Given the description of an element on the screen output the (x, y) to click on. 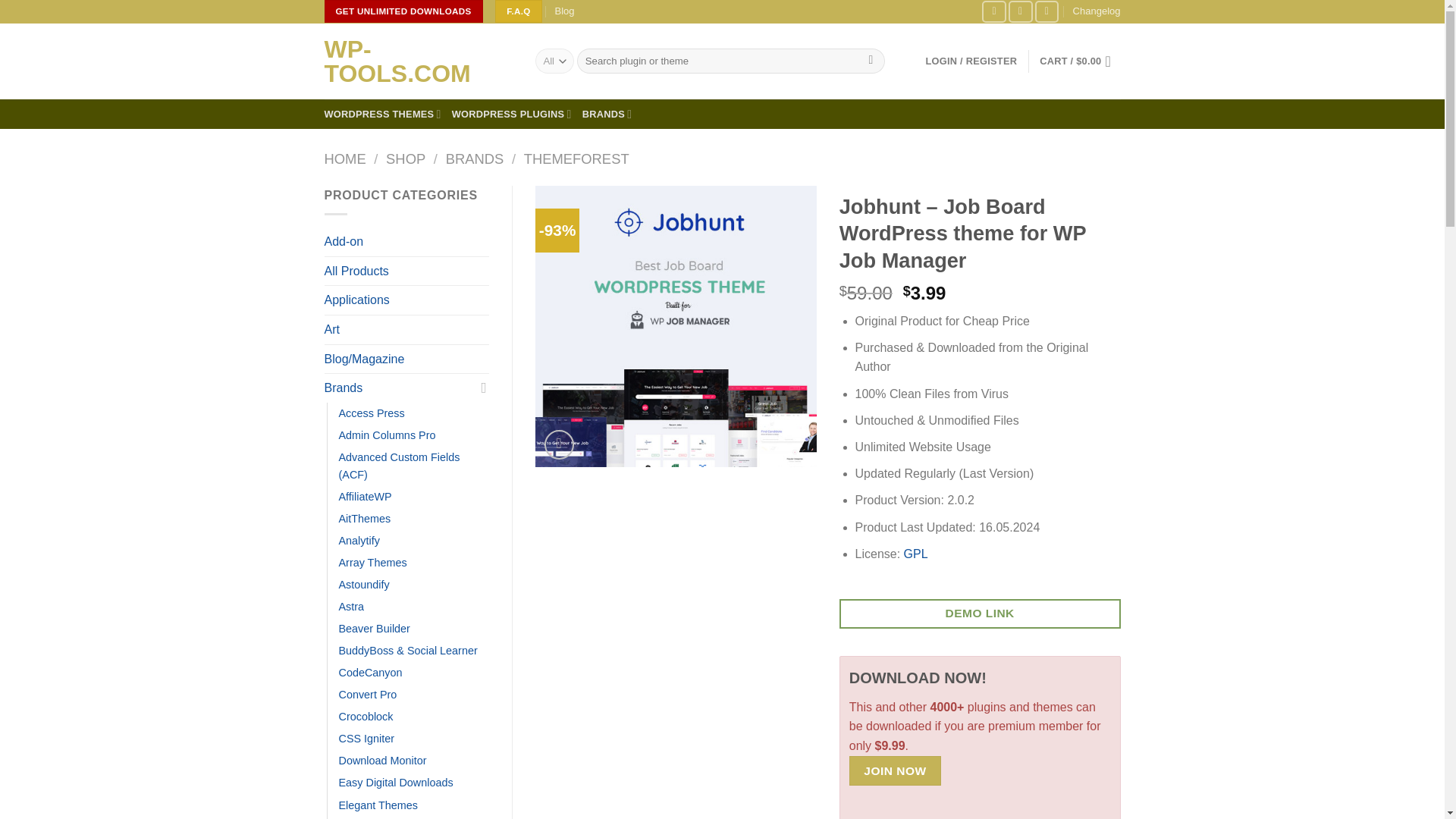
Follow on Facebook (993, 11)
WORDPRESS PLUGINS (511, 113)
Send us an email (1047, 11)
Cart (1079, 61)
Follow on Instagram (1020, 11)
Changelog (1097, 11)
WORDPRESS THEMES (382, 113)
F.A.Q (518, 11)
WP-Tools.com - Unlimited Digital Products (418, 60)
GET UNLIMITED DOWNLOADS (403, 11)
WP-TOOLS.COM (418, 60)
Zoom (558, 444)
Search (871, 61)
